Given the description of an element on the screen output the (x, y) to click on. 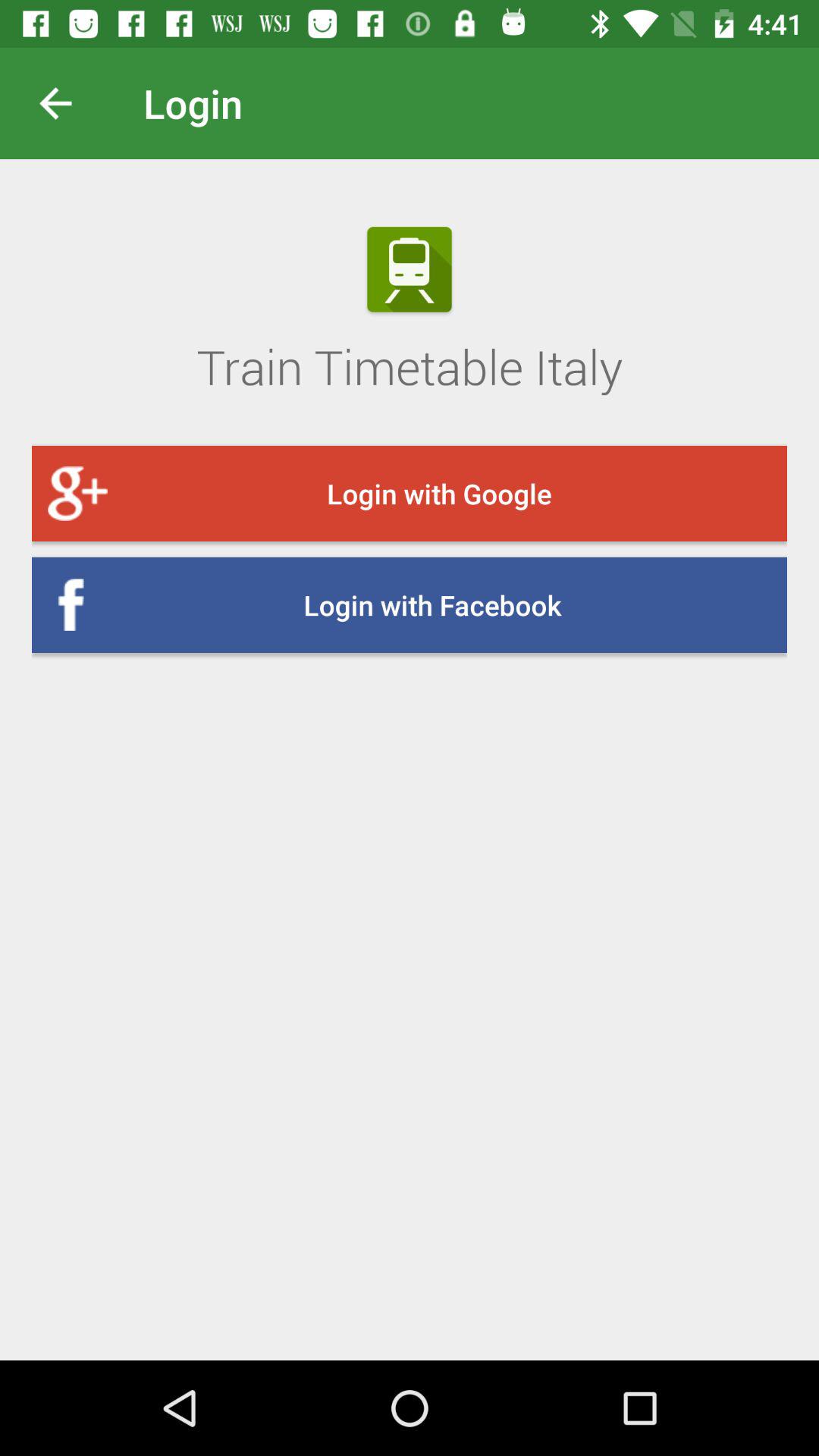
go back (67, 103)
